Given the description of an element on the screen output the (x, y) to click on. 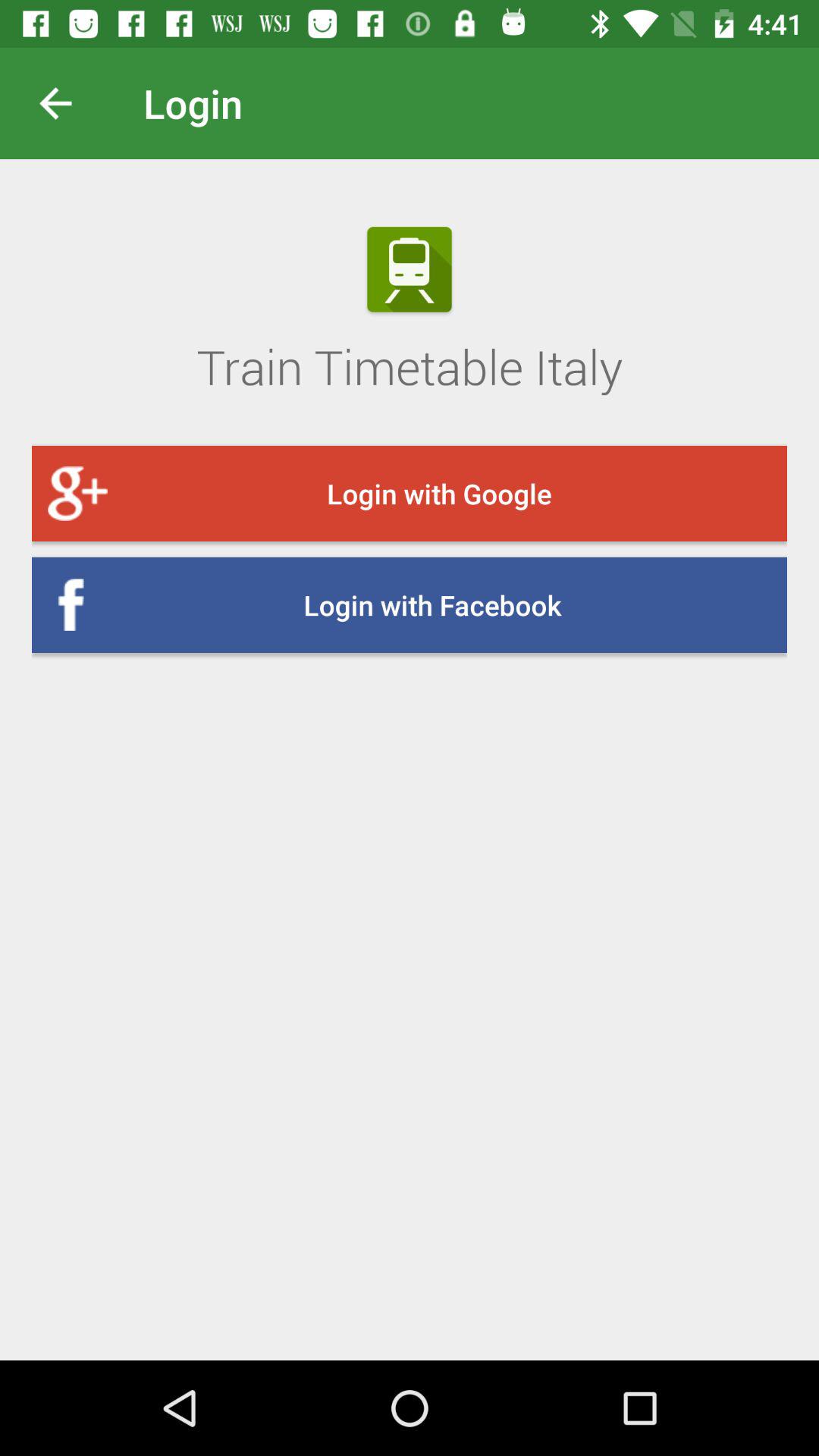
go back (67, 103)
